Given the description of an element on the screen output the (x, y) to click on. 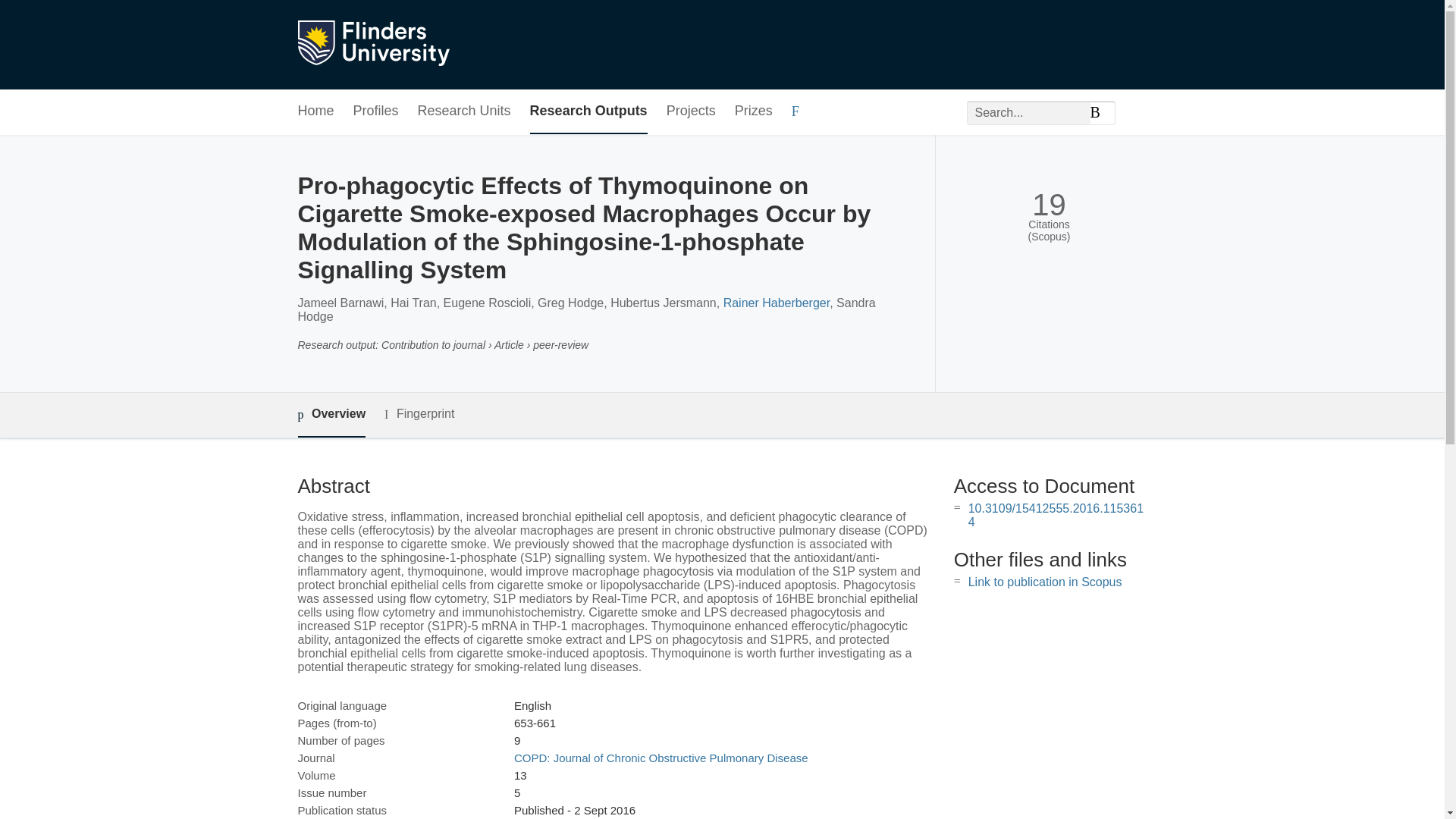
Link to publication in Scopus (1045, 581)
Fingerprint (419, 414)
Overview (331, 415)
Rainer Haberberger (776, 302)
Profiles (375, 111)
Research Outputs (588, 111)
Projects (691, 111)
COPD: Journal of Chronic Obstructive Pulmonary Disease (660, 757)
Research Units (464, 111)
